Given the description of an element on the screen output the (x, y) to click on. 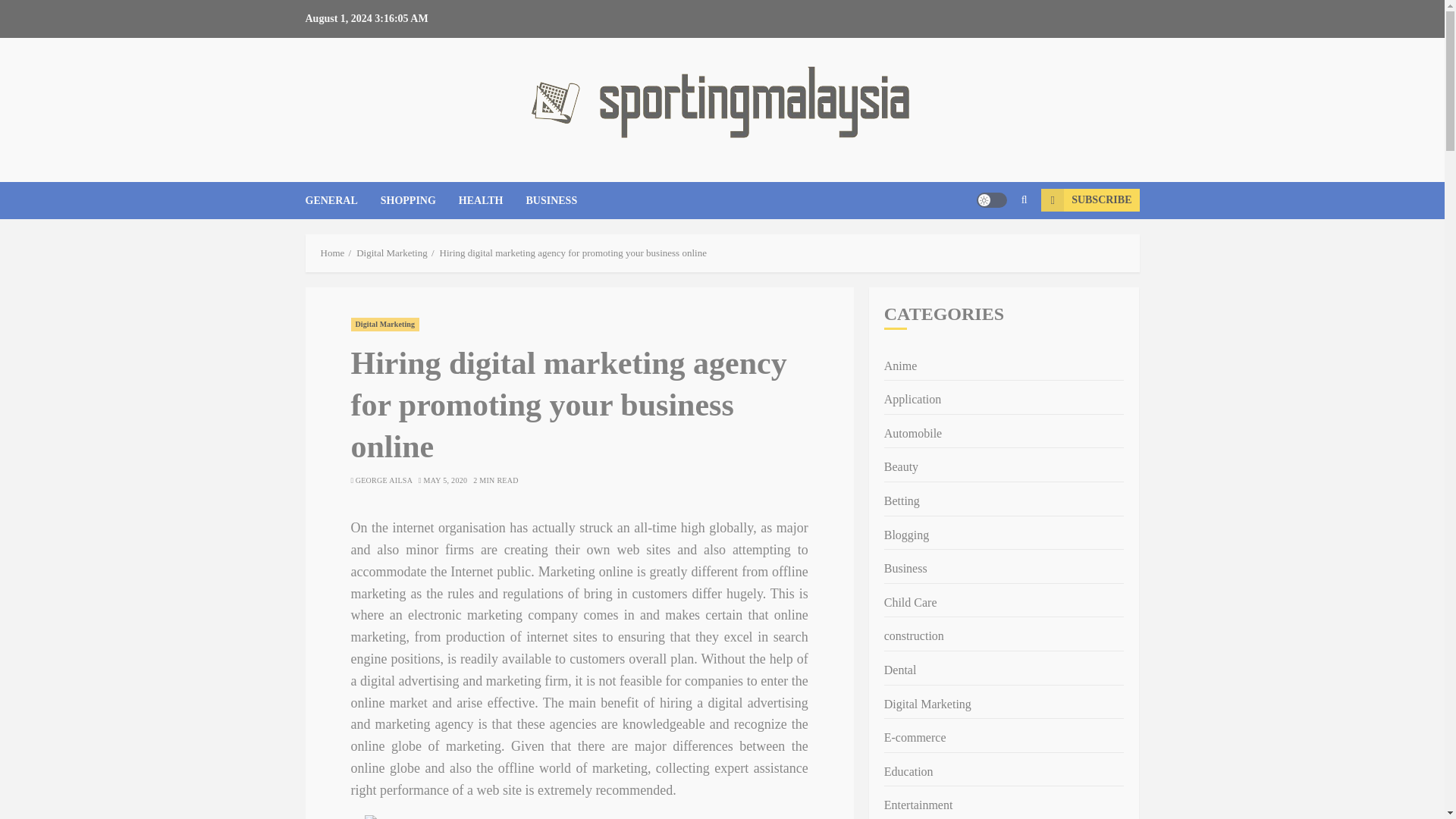
Blogging (906, 535)
Education (908, 772)
GEORGE AILSA (384, 480)
Search (994, 246)
Dental (900, 670)
Anime (900, 366)
Home (331, 253)
BUSINESS (550, 200)
HEALTH (491, 200)
Digital Marketing (384, 324)
Beauty (900, 467)
construction (913, 636)
SHOPPING (419, 200)
MAY 5, 2020 (445, 480)
